Given the description of an element on the screen output the (x, y) to click on. 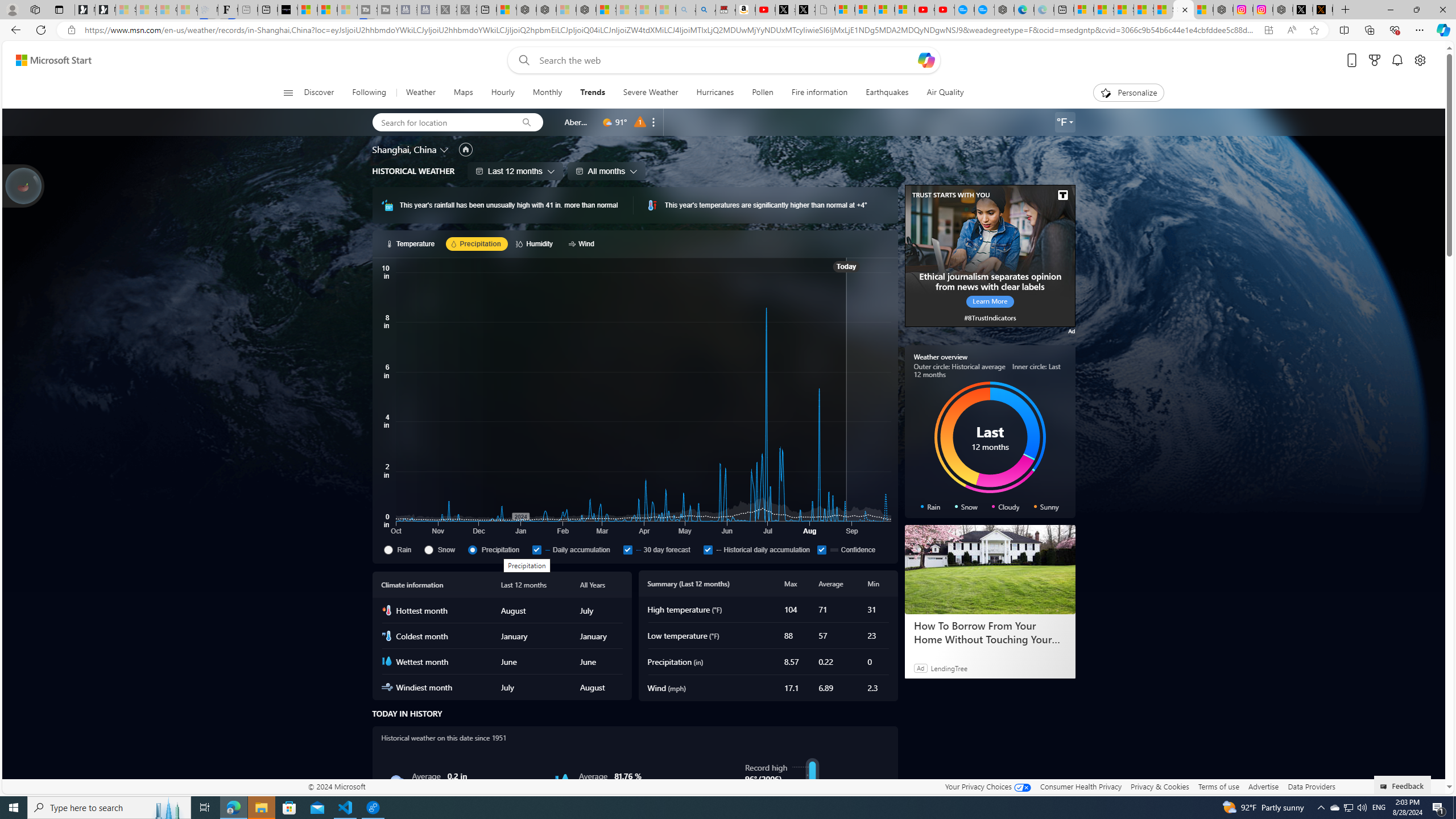
Earthquakes (886, 92)
Trends (592, 92)
Pollen (762, 92)
Trends (592, 92)
